Given the description of an element on the screen output the (x, y) to click on. 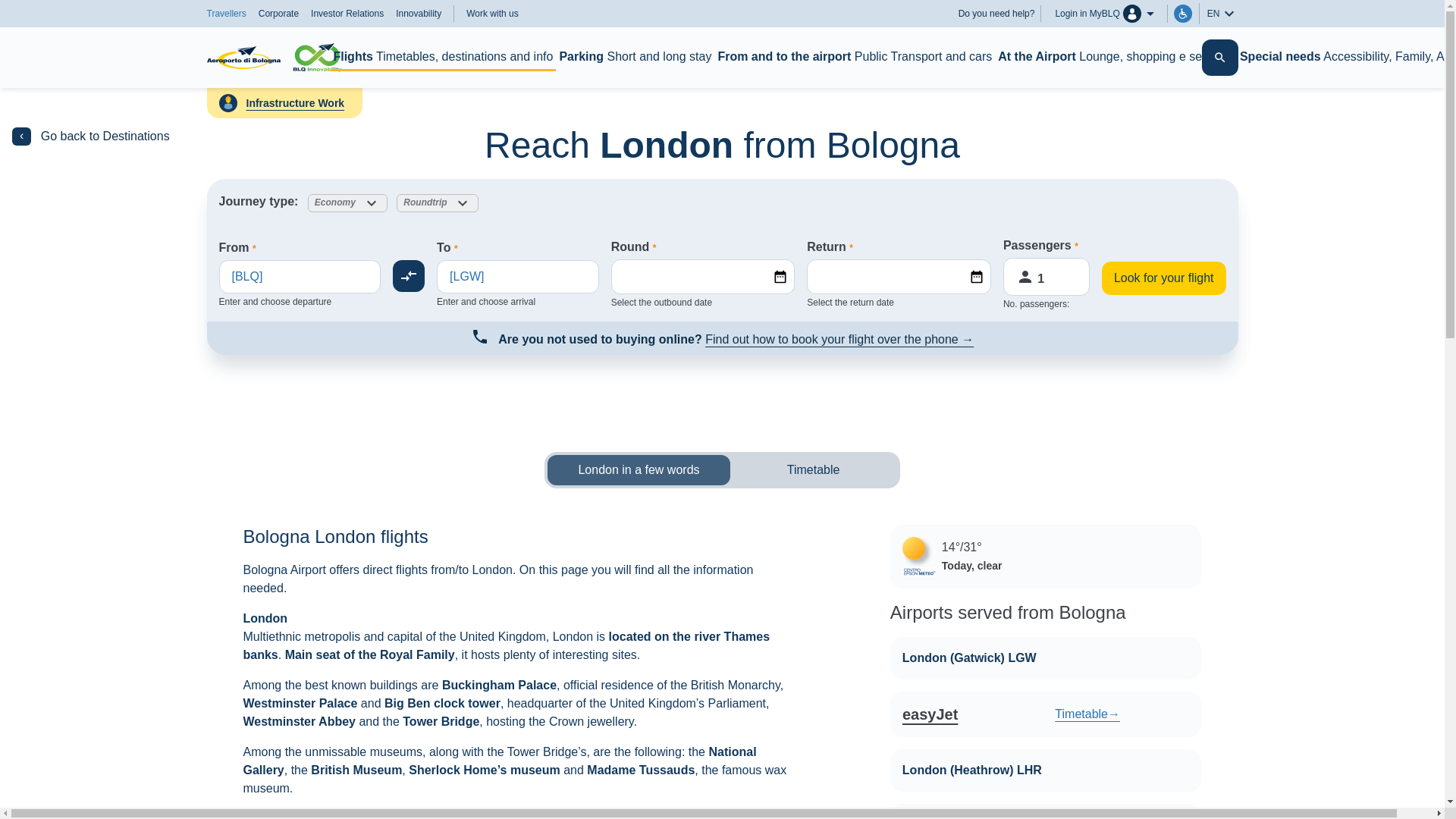
Innovability (418, 13)
Corporate (278, 13)
Travellers (226, 13)
Investor Relations (347, 13)
Work with us (490, 13)
Do you need help? (1000, 13)
Special assistance (1183, 13)
